Given the description of an element on the screen output the (x, y) to click on. 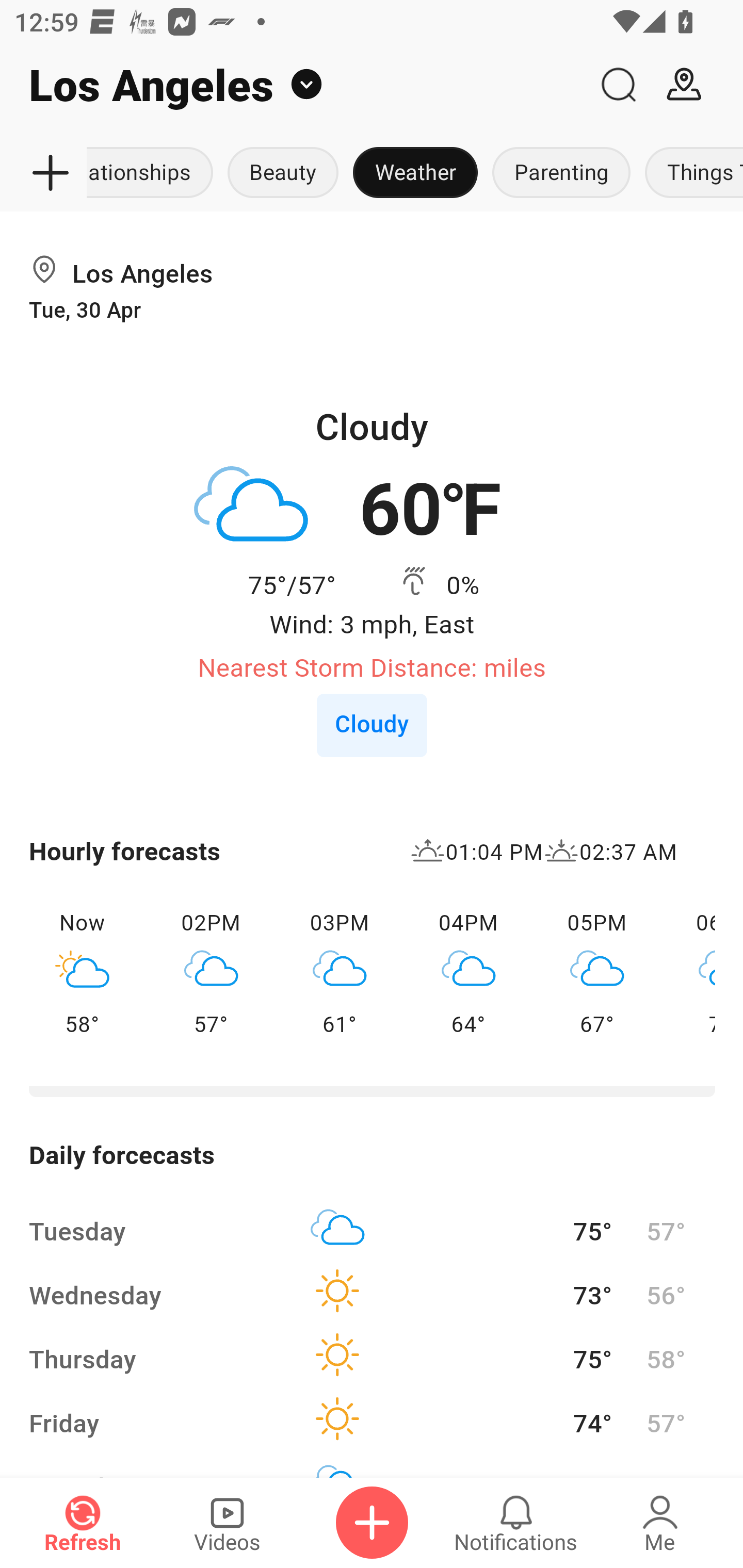
Los Angeles (292, 84)
Relationships (153, 172)
Beauty (282, 172)
Weather (415, 172)
Parenting (561, 172)
Things To Do (690, 172)
Videos (227, 1522)
Notifications (516, 1522)
Me (659, 1522)
